Given the description of an element on the screen output the (x, y) to click on. 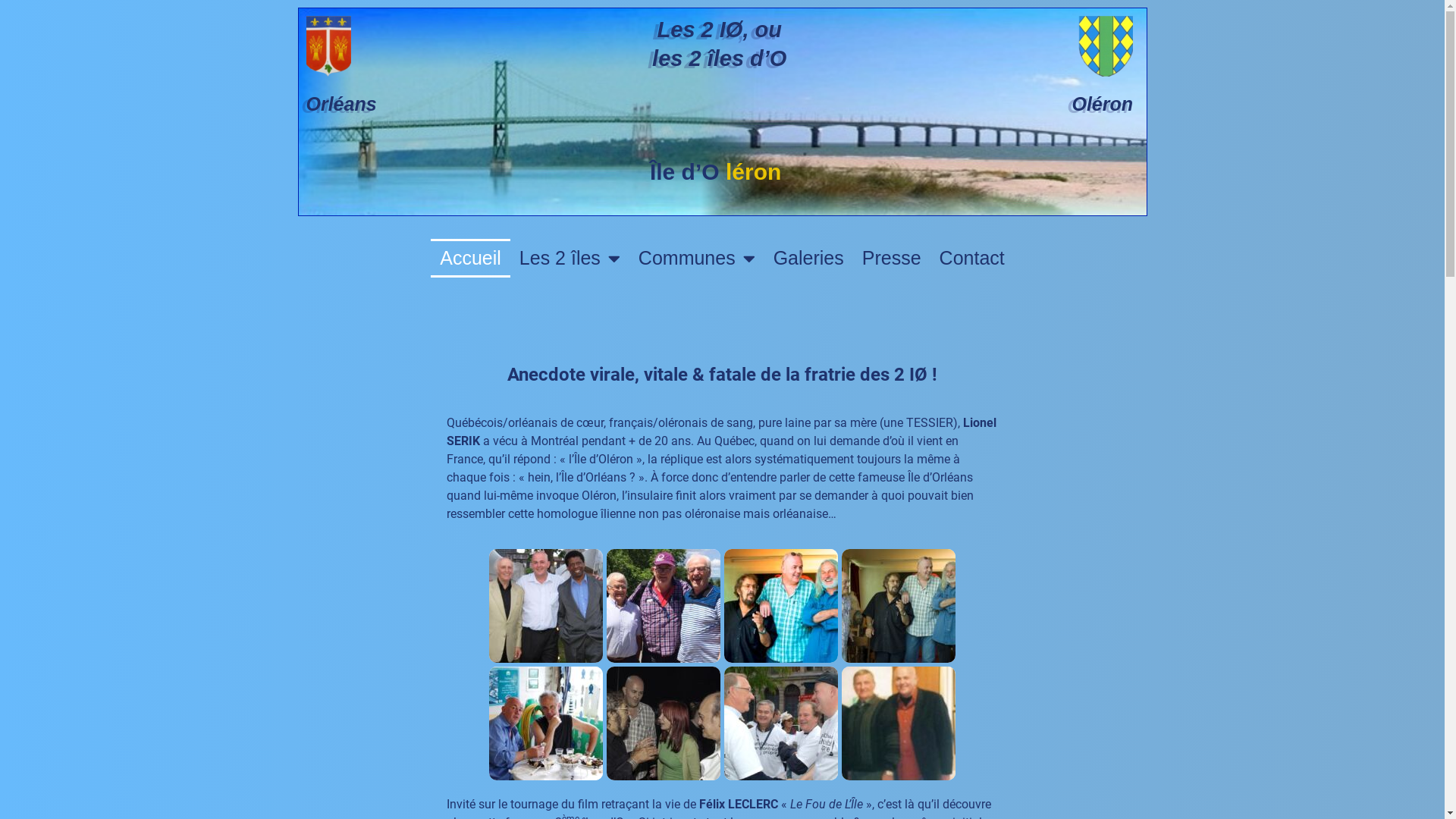
Contact Element type: text (971, 257)
Galeries Element type: text (808, 257)
Presse Element type: text (891, 257)
Communes Element type: text (696, 257)
Accueil Element type: text (470, 257)
